Given the description of an element on the screen output the (x, y) to click on. 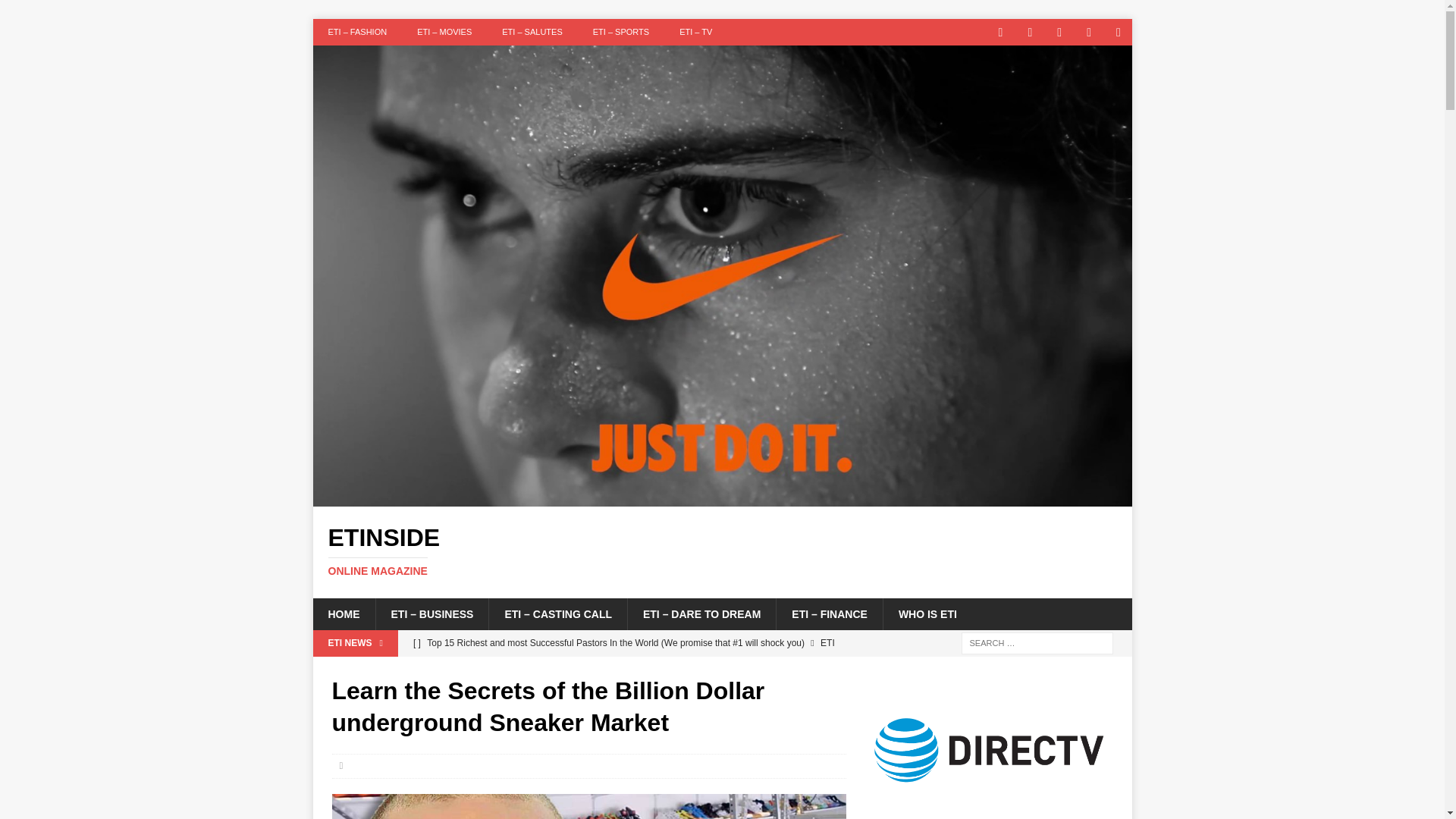
Search (56, 11)
ETInside (722, 497)
ETInside (721, 550)
HOME (343, 613)
WHO IS ETI (927, 613)
